Given the description of an element on the screen output the (x, y) to click on. 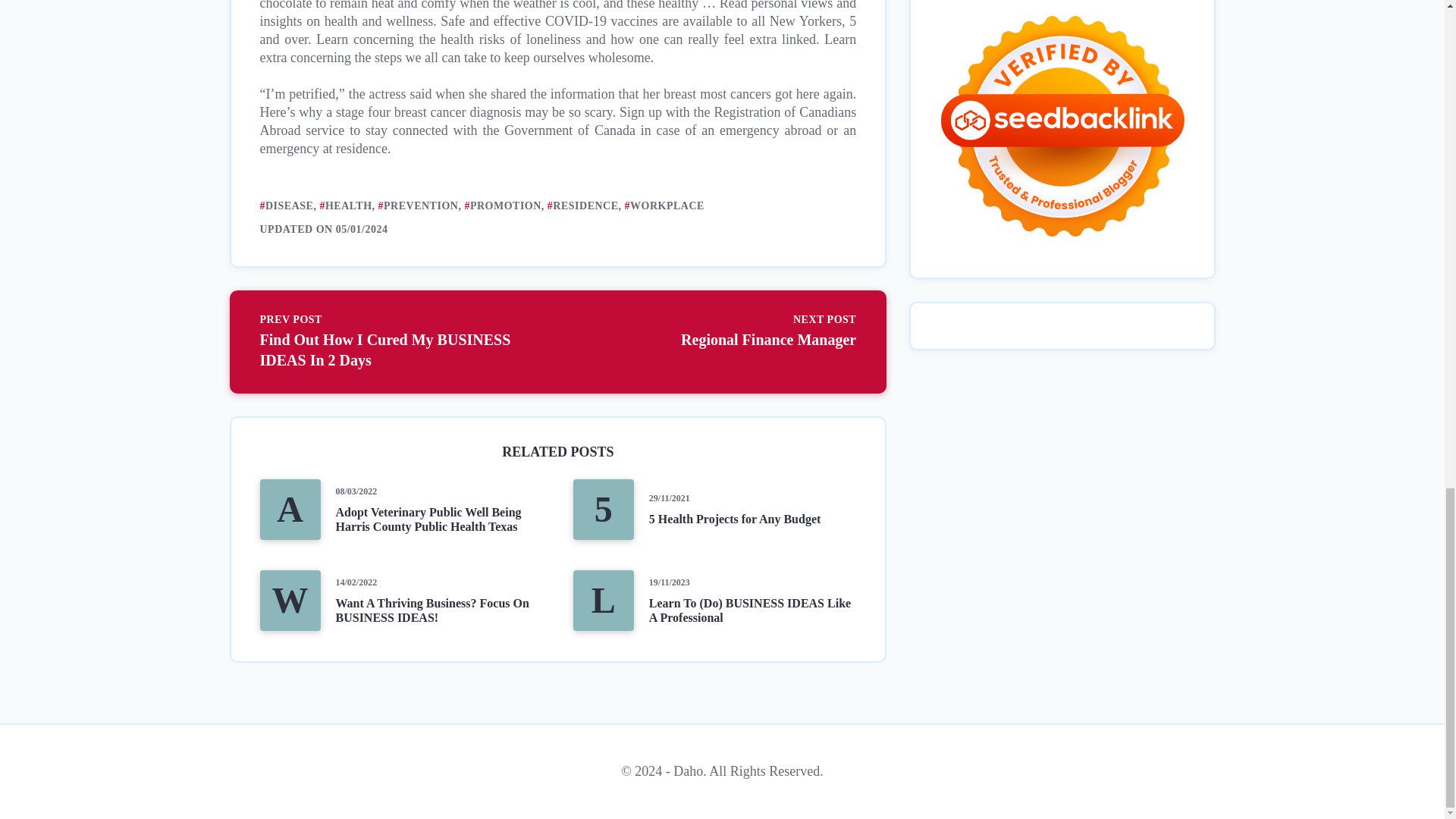
Find Out How I Cured My BUSINESS IDEAS In 2 Days (400, 341)
Regional Finance Manager (714, 331)
Seedbacklink (1062, 127)
